Given the description of an element on the screen output the (x, y) to click on. 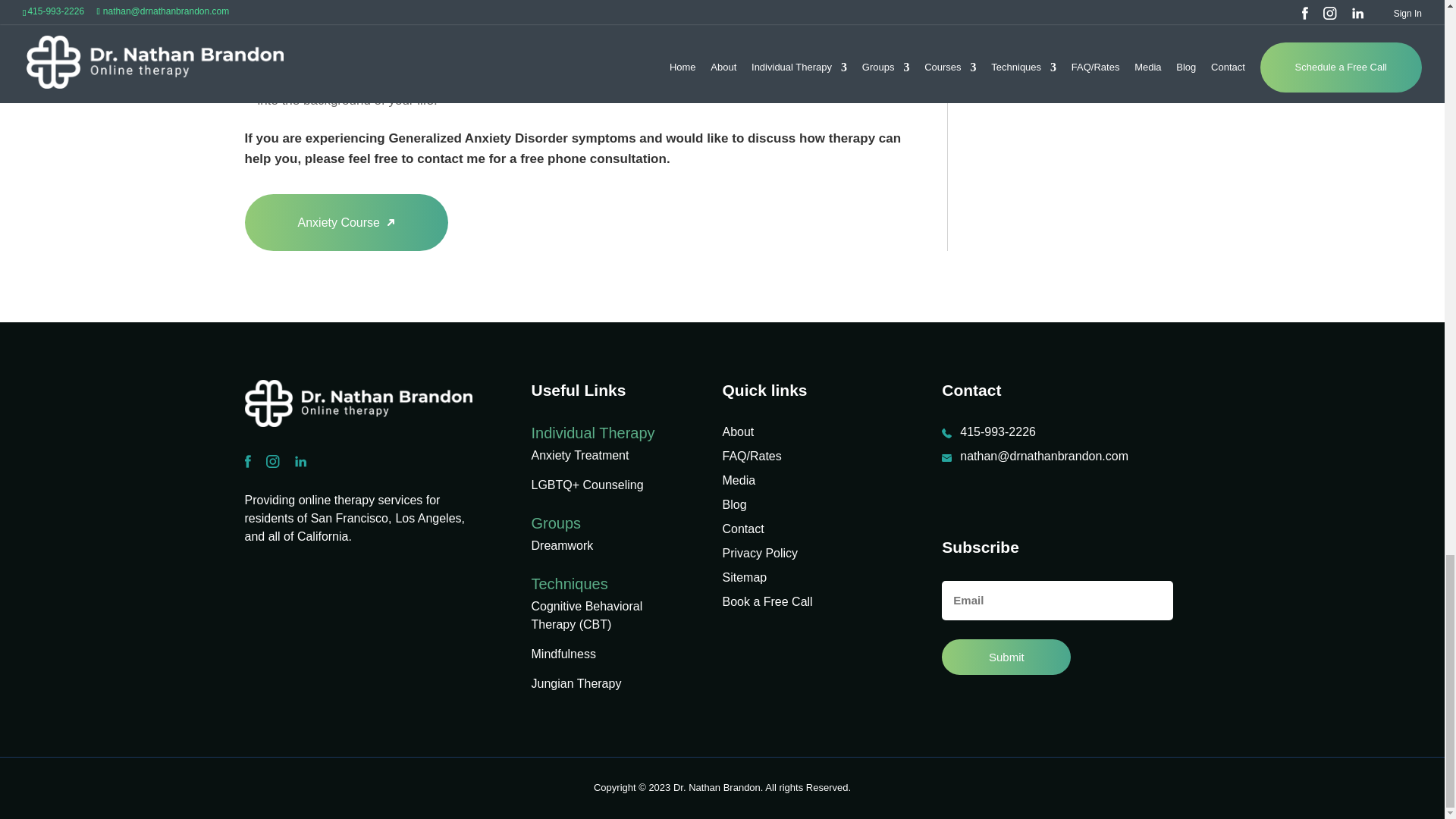
submit (1006, 656)
